Given the description of an element on the screen output the (x, y) to click on. 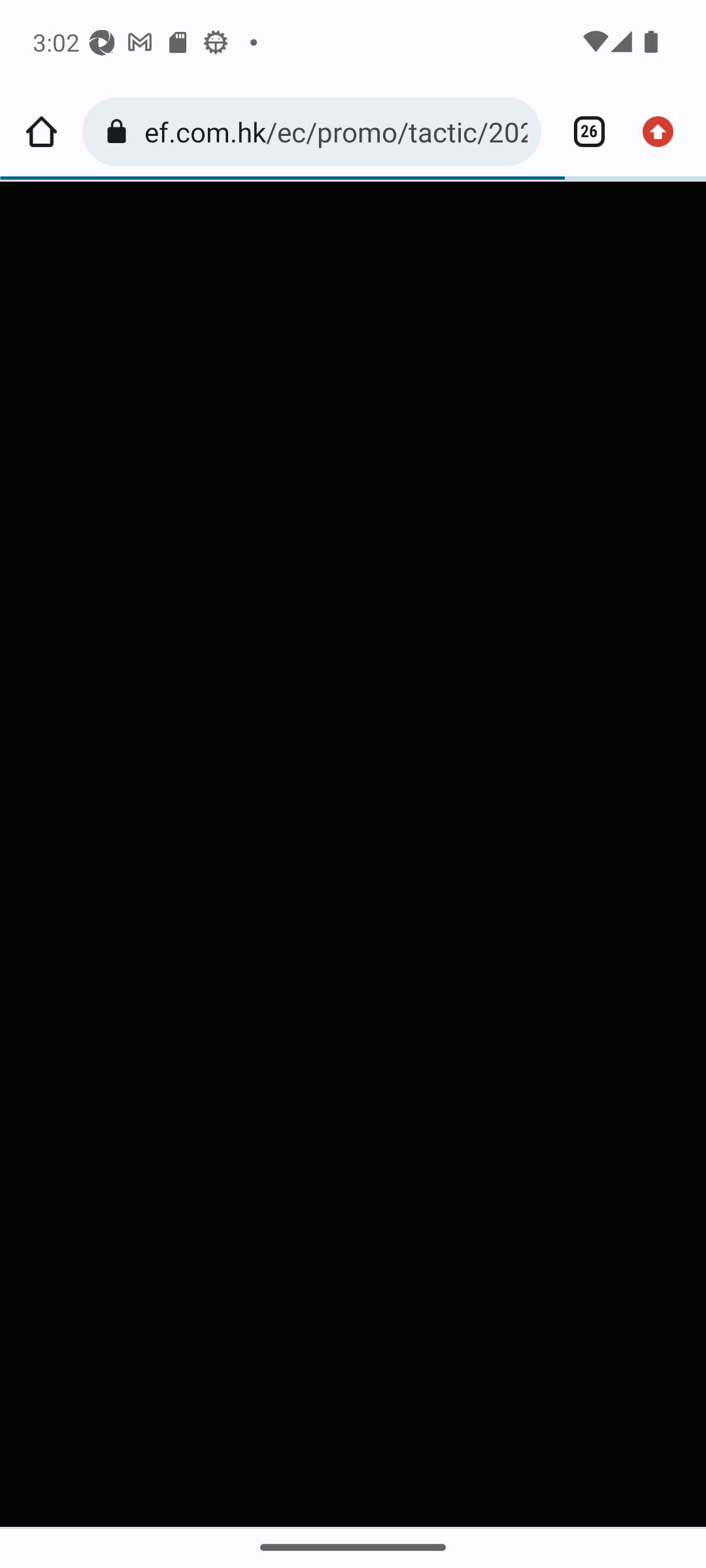
Home (41, 131)
Connection is secure (120, 131)
Switch or close tabs (582, 131)
Update available. More options (664, 131)
